Given the description of an element on the screen output the (x, y) to click on. 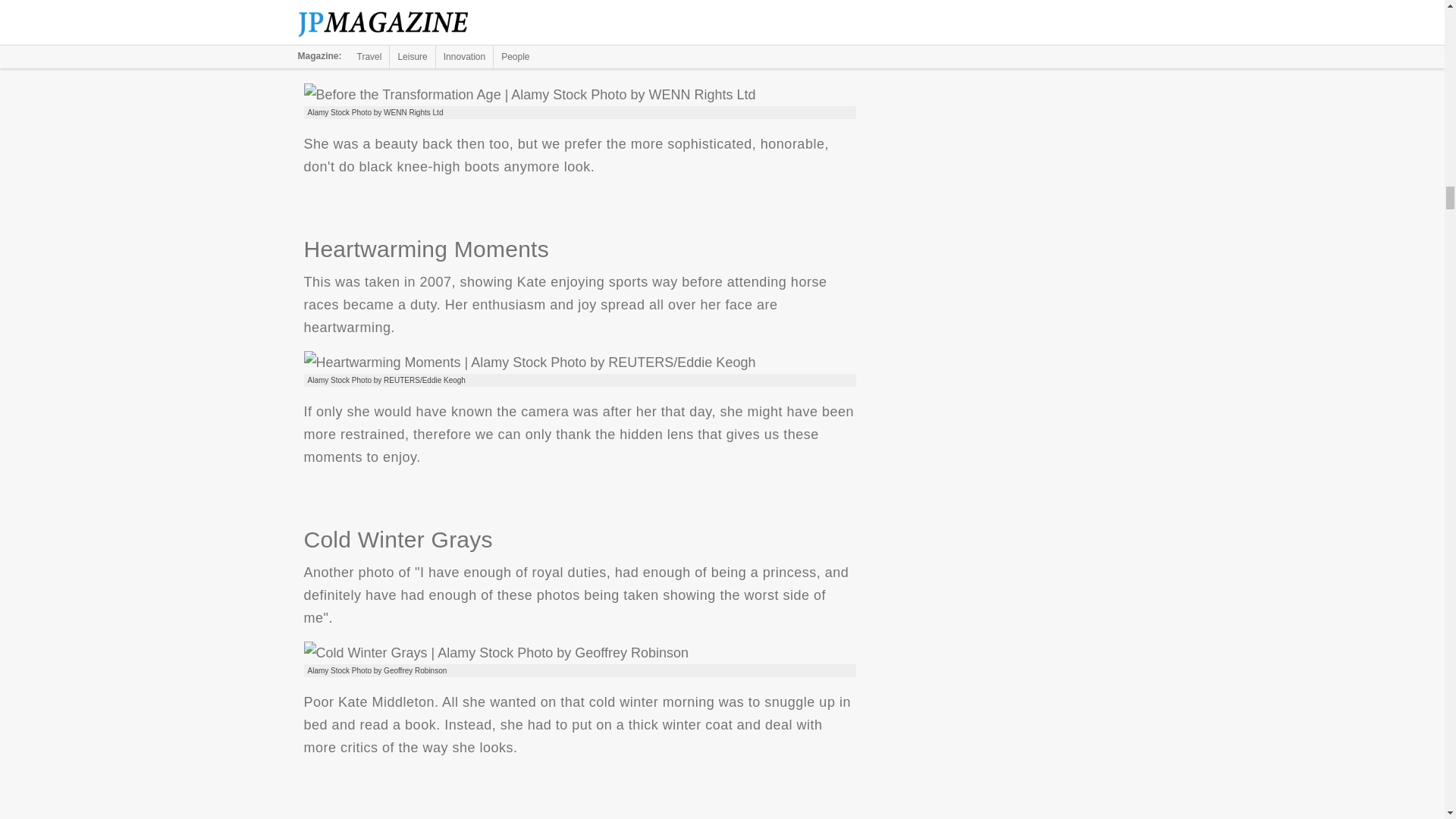
Before the Transformation Age (528, 94)
